Given the description of an element on the screen output the (x, y) to click on. 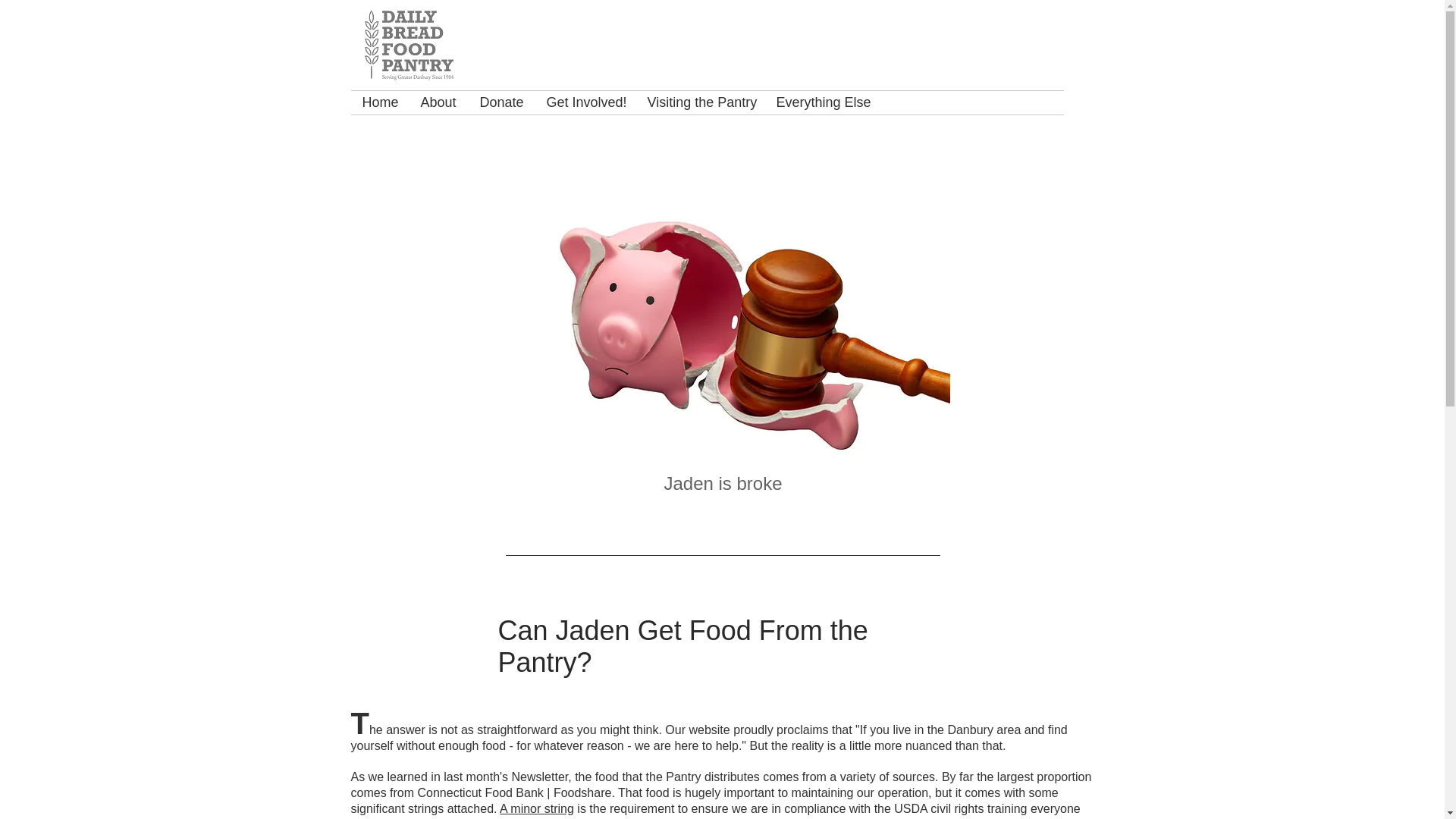
A minor string (536, 808)
Home (379, 102)
Get Involved! (585, 102)
Donate (501, 102)
Jaden is broke (722, 483)
Visiting the Pantry (699, 102)
